Given the description of an element on the screen output the (x, y) to click on. 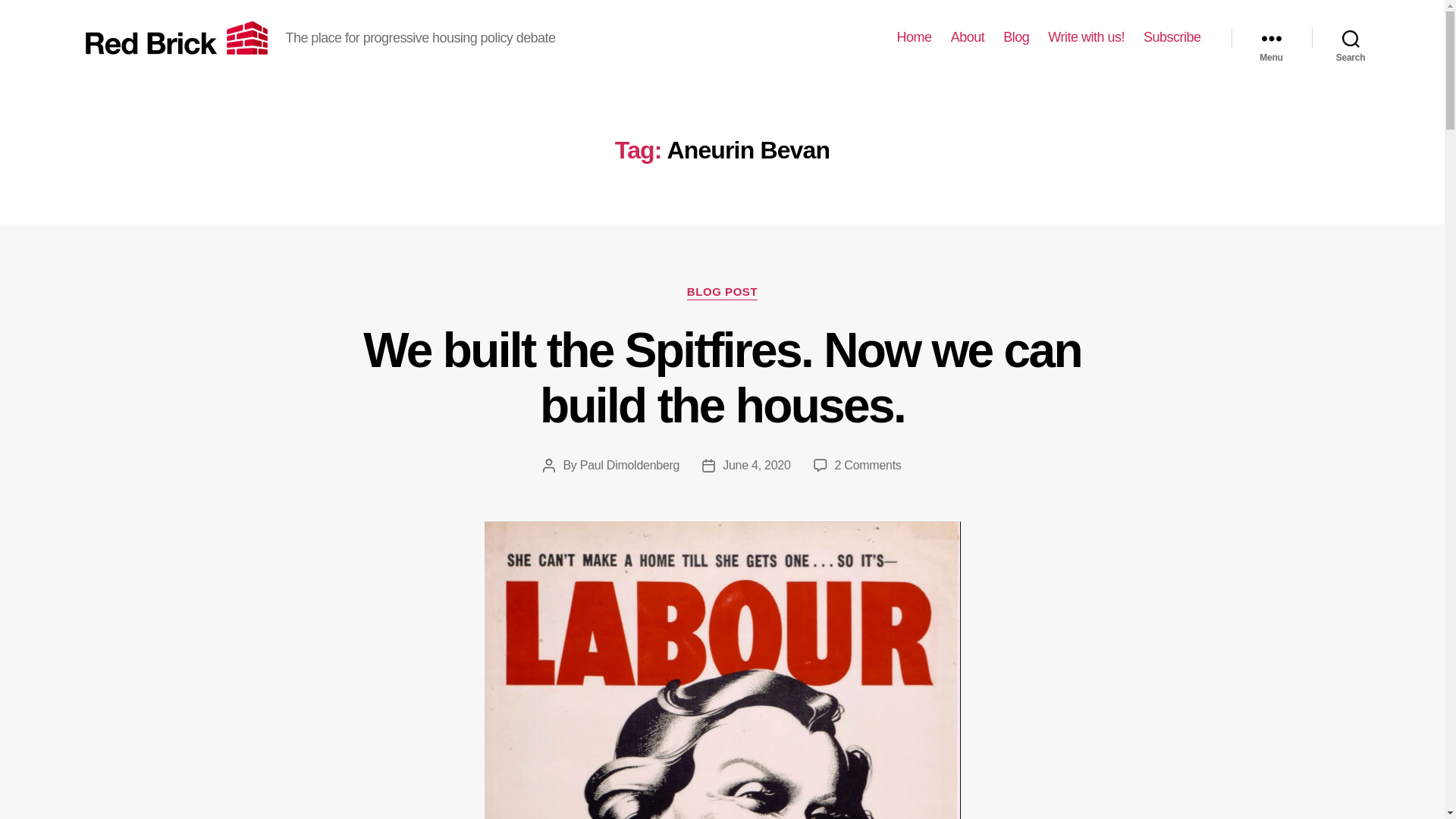
Search (1350, 37)
June 4, 2020 (756, 464)
Menu (1271, 37)
BLOG POST (722, 292)
Blog (1016, 37)
Paul Dimoldenberg (629, 464)
Write with us! (1086, 37)
We built the Spitfires. Now we can build the houses. (721, 377)
Home (913, 37)
Subscribe (1171, 37)
About (967, 37)
